Given the description of an element on the screen output the (x, y) to click on. 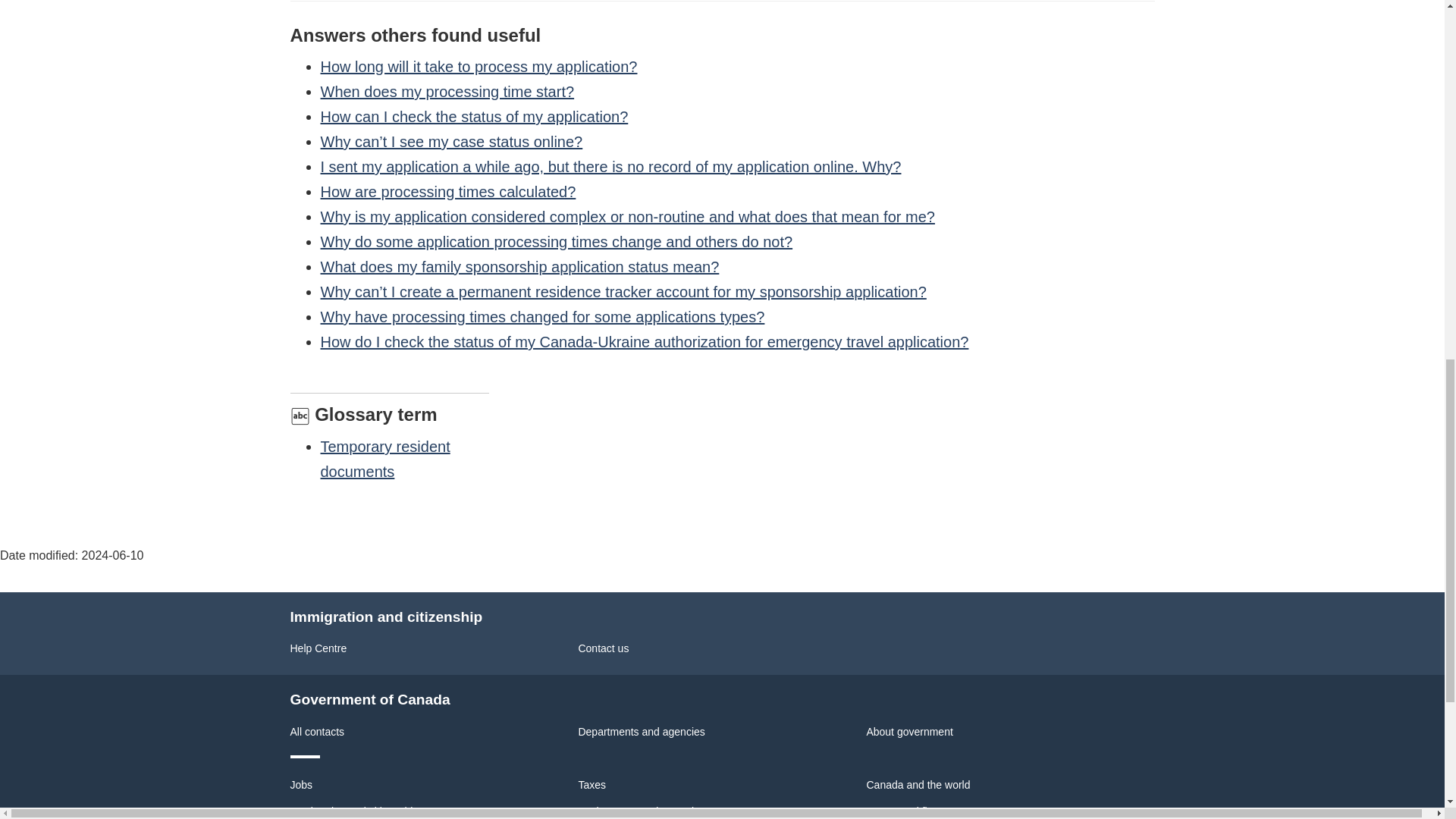
When does my processing time start? (446, 91)
How long will it take to process my application? (478, 66)
How can I check the status of my application? (473, 116)
How are processing times calculated? (447, 191)
